Given the description of an element on the screen output the (x, y) to click on. 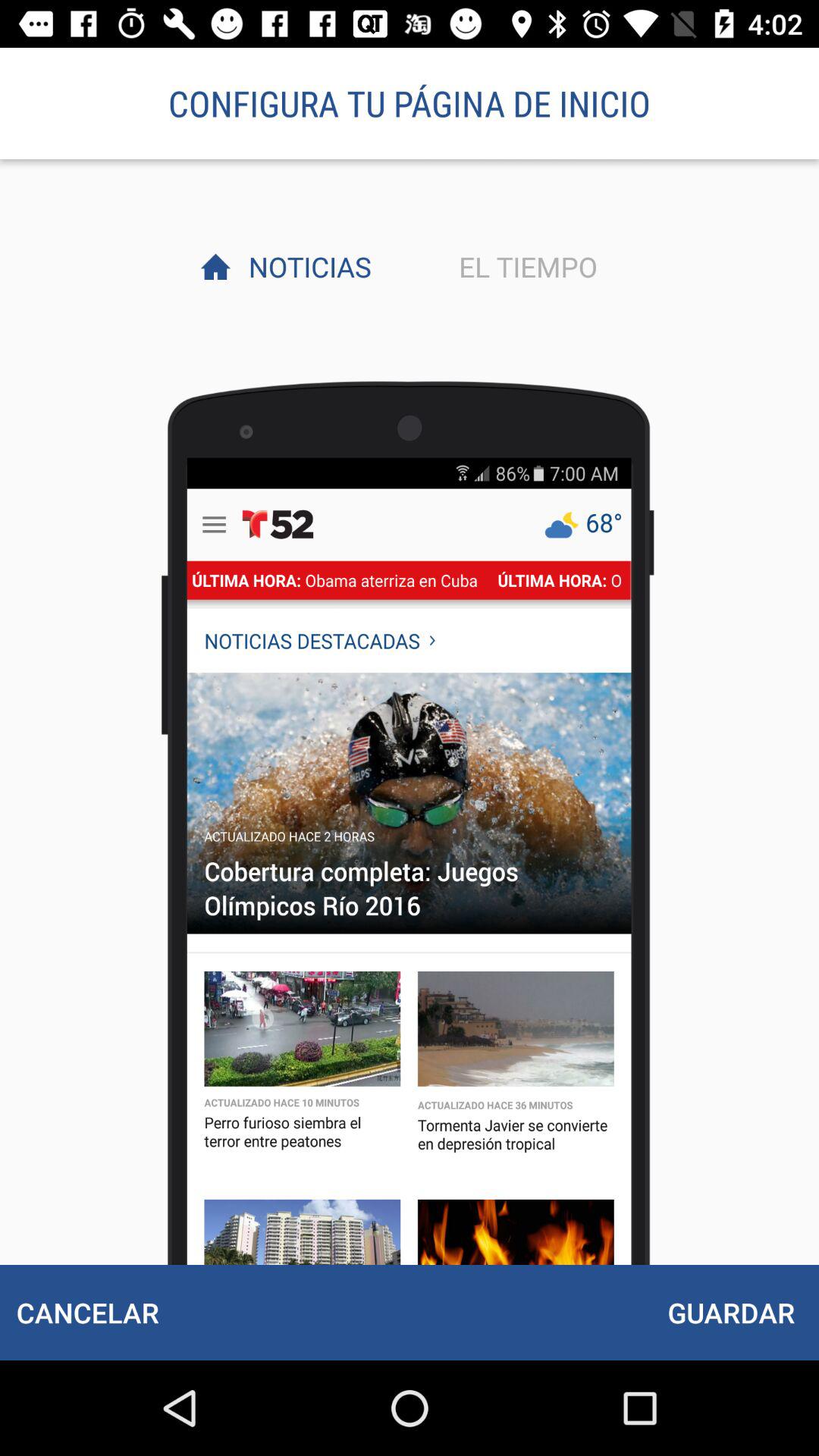
turn off the icon to the left of guardar icon (87, 1312)
